Given the description of an element on the screen output the (x, y) to click on. 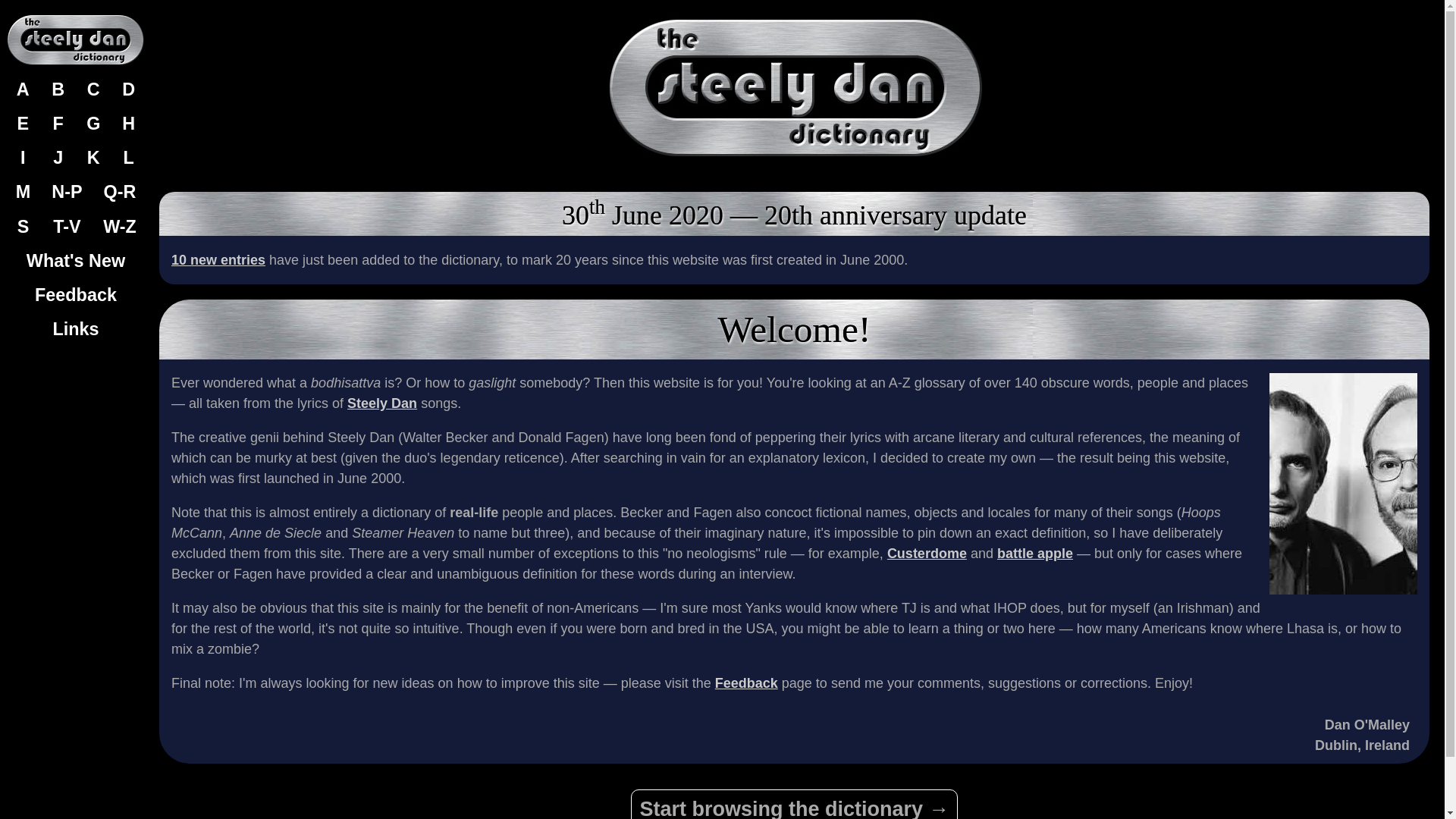
Q-R (119, 192)
battle apple (1035, 553)
Feedback (745, 683)
10 new entries (217, 259)
E (22, 123)
W-Z (119, 226)
Custerdome (926, 553)
D (128, 89)
Links (75, 329)
Feedback (75, 295)
